Given the description of an element on the screen output the (x, y) to click on. 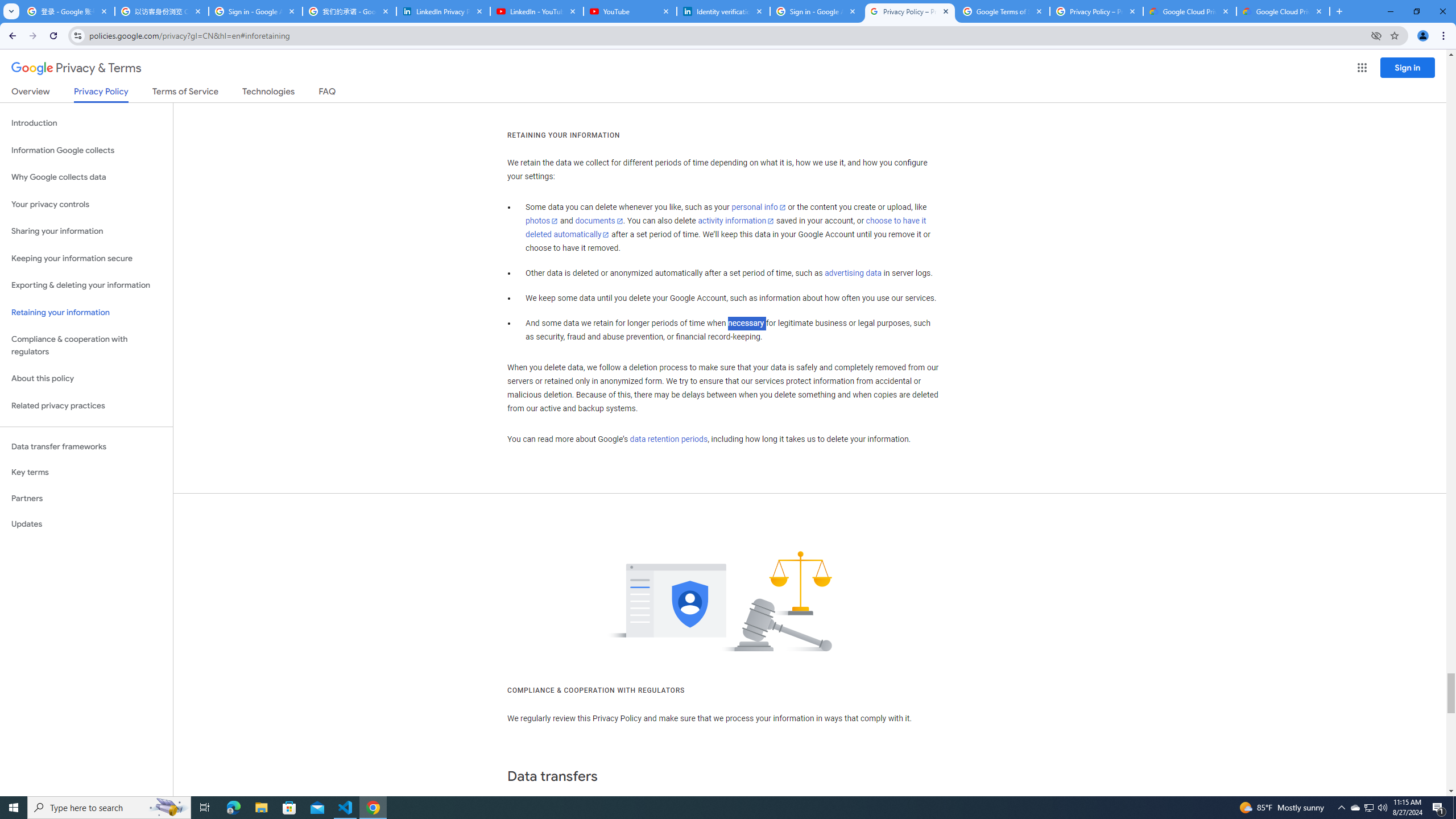
Information Google collects (86, 150)
Partners (86, 497)
Exporting & deleting your information (86, 284)
Sign in - Google Accounts (255, 11)
choose to have it deleted automatically (725, 227)
Google Cloud Privacy Notice (1283, 11)
Introduction (86, 122)
LinkedIn Privacy Policy (443, 11)
